Given the description of an element on the screen output the (x, y) to click on. 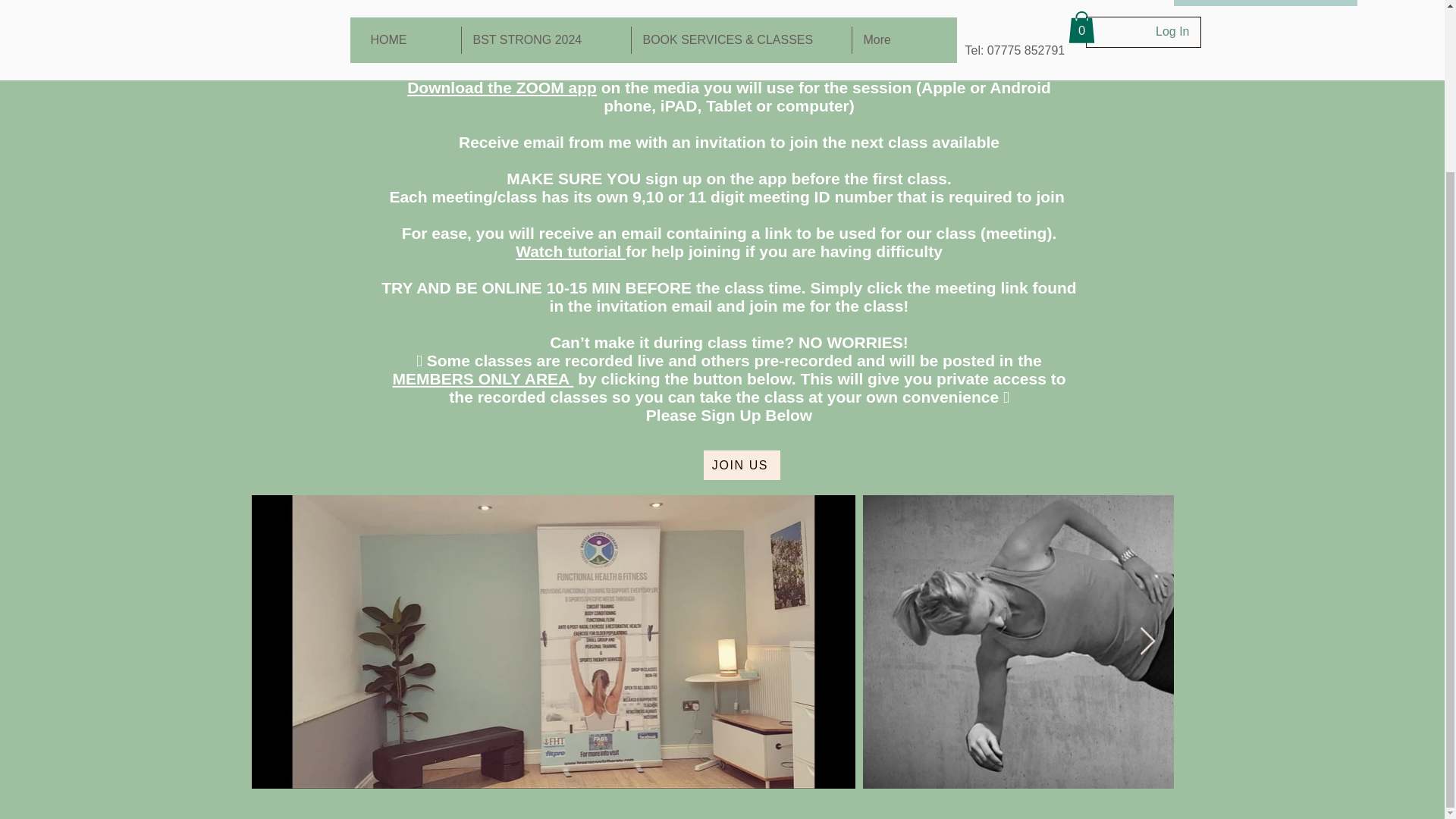
Download the ZOOM app (501, 87)
waiver form (569, 50)
Watch tutorial (570, 251)
for help joining if you are having difficulty (784, 251)
MEMBERS ONLY AREA  (482, 378)
JOIN US (741, 464)
